Given the description of an element on the screen output the (x, y) to click on. 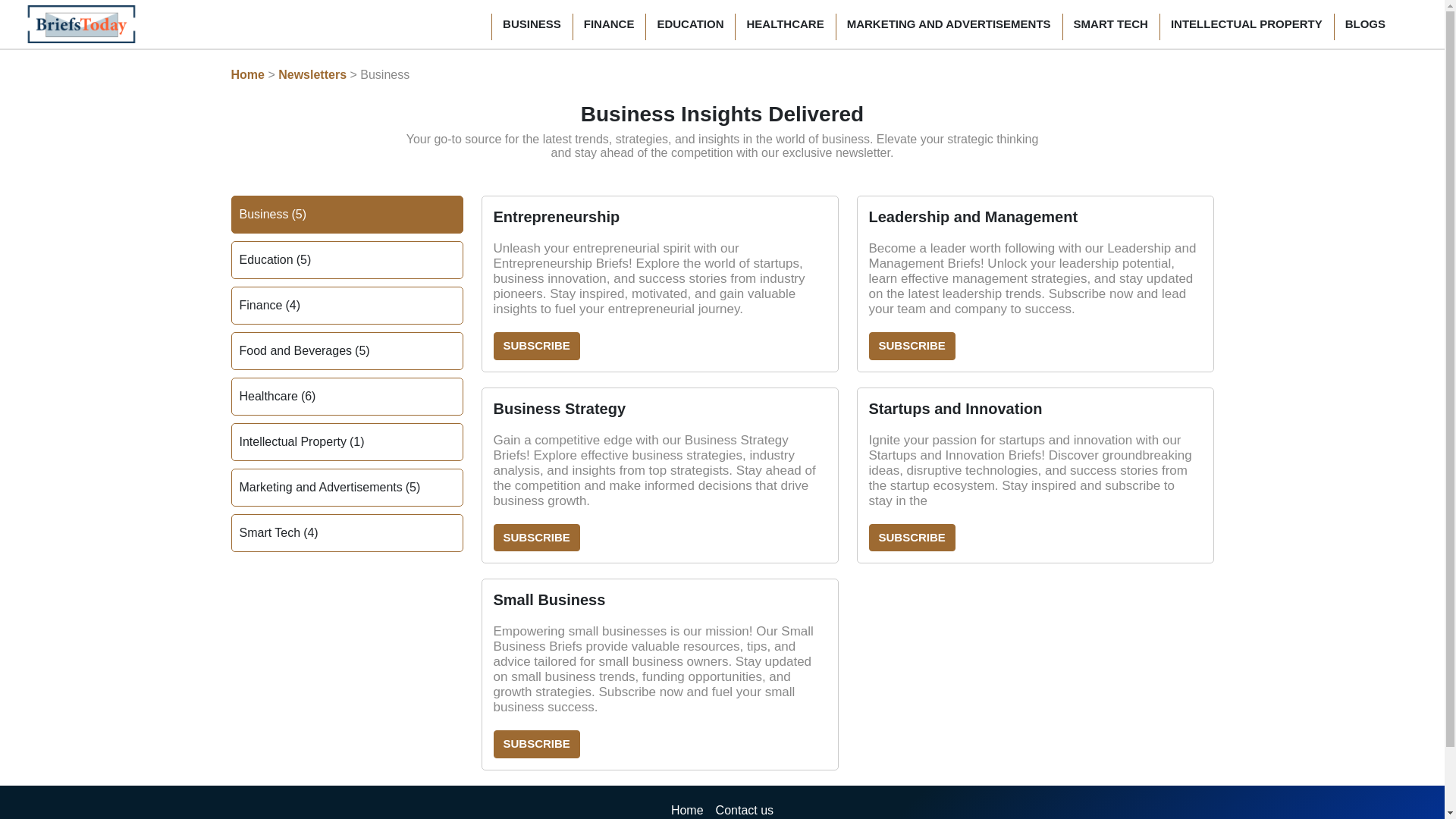
Home (246, 74)
Home (687, 808)
SUBSCRIBE (536, 538)
SUBSCRIBE (912, 346)
BUSINESS (532, 23)
SUBSCRIBE (536, 346)
Newsletters (312, 74)
Contact us (744, 808)
BLOGS (1364, 23)
SMART TECH (1110, 23)
FINANCE (609, 23)
INTELLECTUAL PROPERTY (1245, 23)
EDUCATION (690, 23)
SUBSCRIBE (536, 744)
BriefsToday (81, 24)
